Given the description of an element on the screen output the (x, y) to click on. 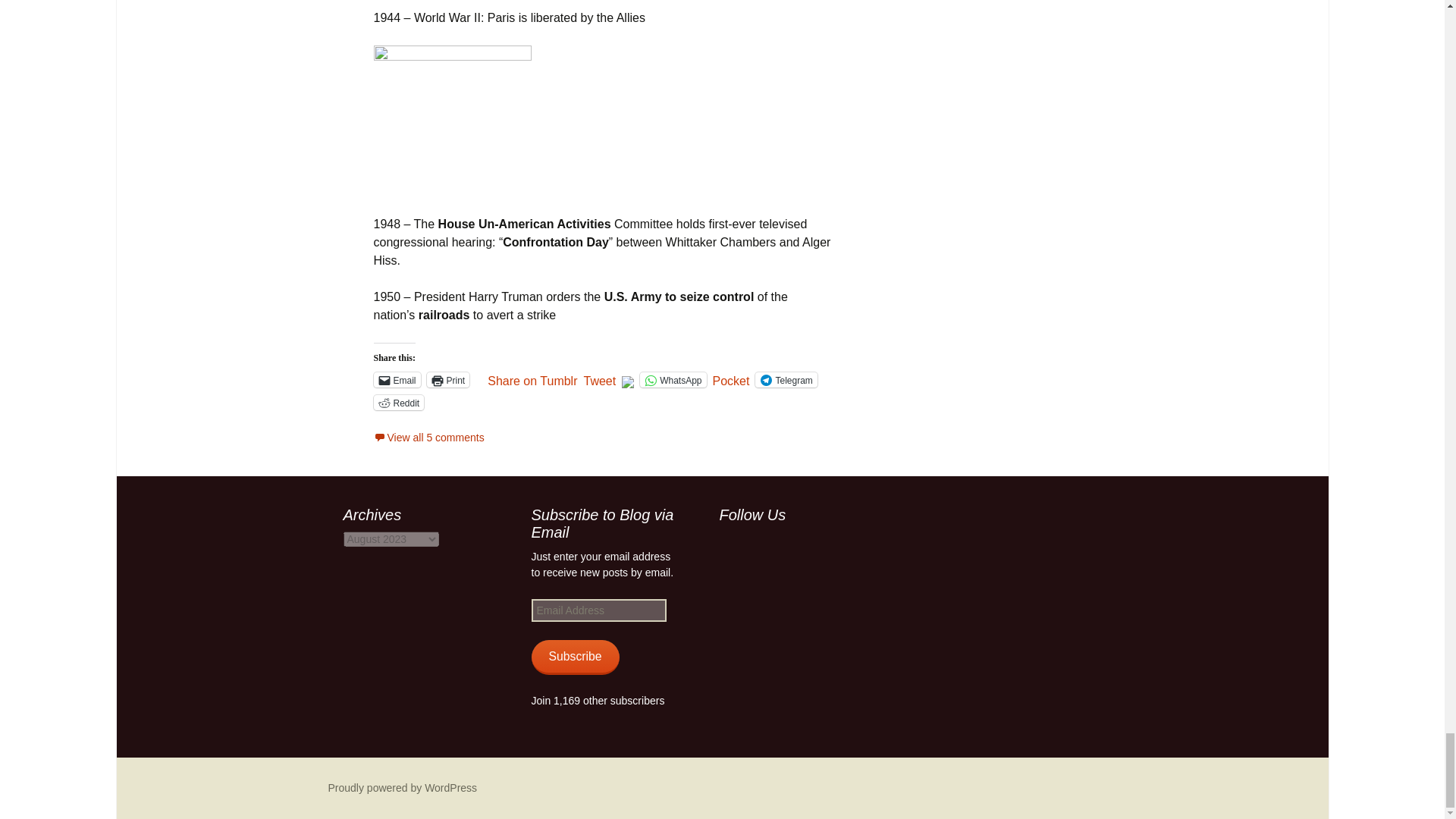
Click to email a link to a friend (396, 379)
Click to share on Telegram (785, 379)
Click to share on Reddit (397, 402)
Share on Tumblr (531, 378)
Click to print (448, 379)
Click to share on WhatsApp (673, 379)
